Given the description of an element on the screen output the (x, y) to click on. 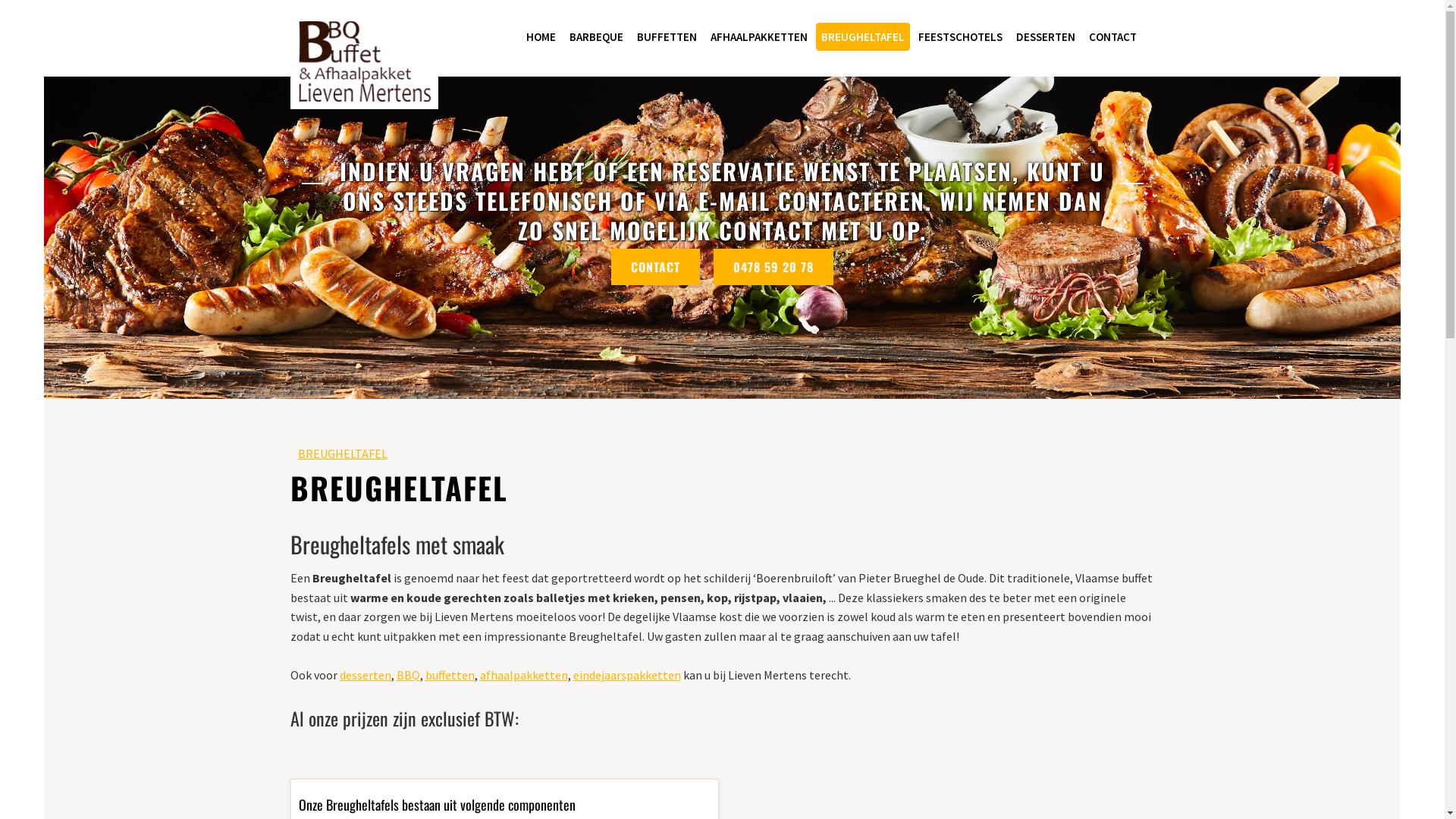
eindejaarspakketten Element type: text (626, 674)
HOME Element type: text (540, 36)
BBQ Element type: text (407, 674)
BREUGHELTAFEL Element type: text (341, 453)
BREUGHELTAFEL Element type: text (862, 36)
afhaalpakketten Element type: text (523, 674)
desserten Element type: text (365, 674)
BUFFETTEN Element type: text (665, 36)
CONTACT Element type: text (655, 266)
BARBEQUE Element type: text (596, 36)
buffetten Element type: text (448, 674)
FEESTSCHOTELS Element type: text (960, 36)
CONTACT Element type: text (1111, 36)
DESSERTEN Element type: text (1044, 36)
AFHAALPAKKETTEN Element type: text (758, 36)
0478 59 20 78 Element type: text (773, 266)
